Given the description of an element on the screen output the (x, y) to click on. 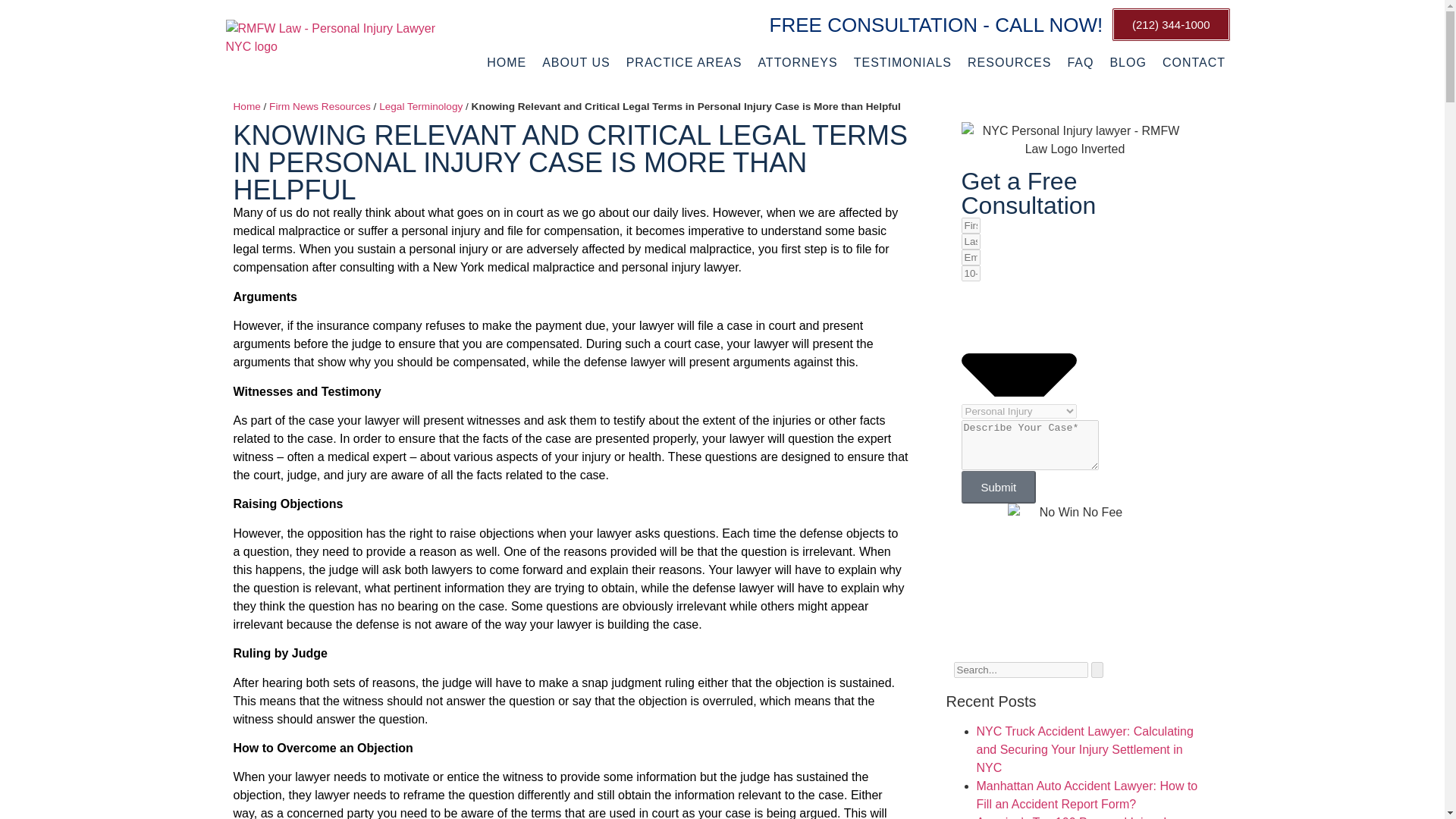
rmfw-law-logo (335, 42)
PRACTICE AREAS (684, 62)
HOME (506, 62)
ABOUT US (576, 62)
